Given the description of an element on the screen output the (x, y) to click on. 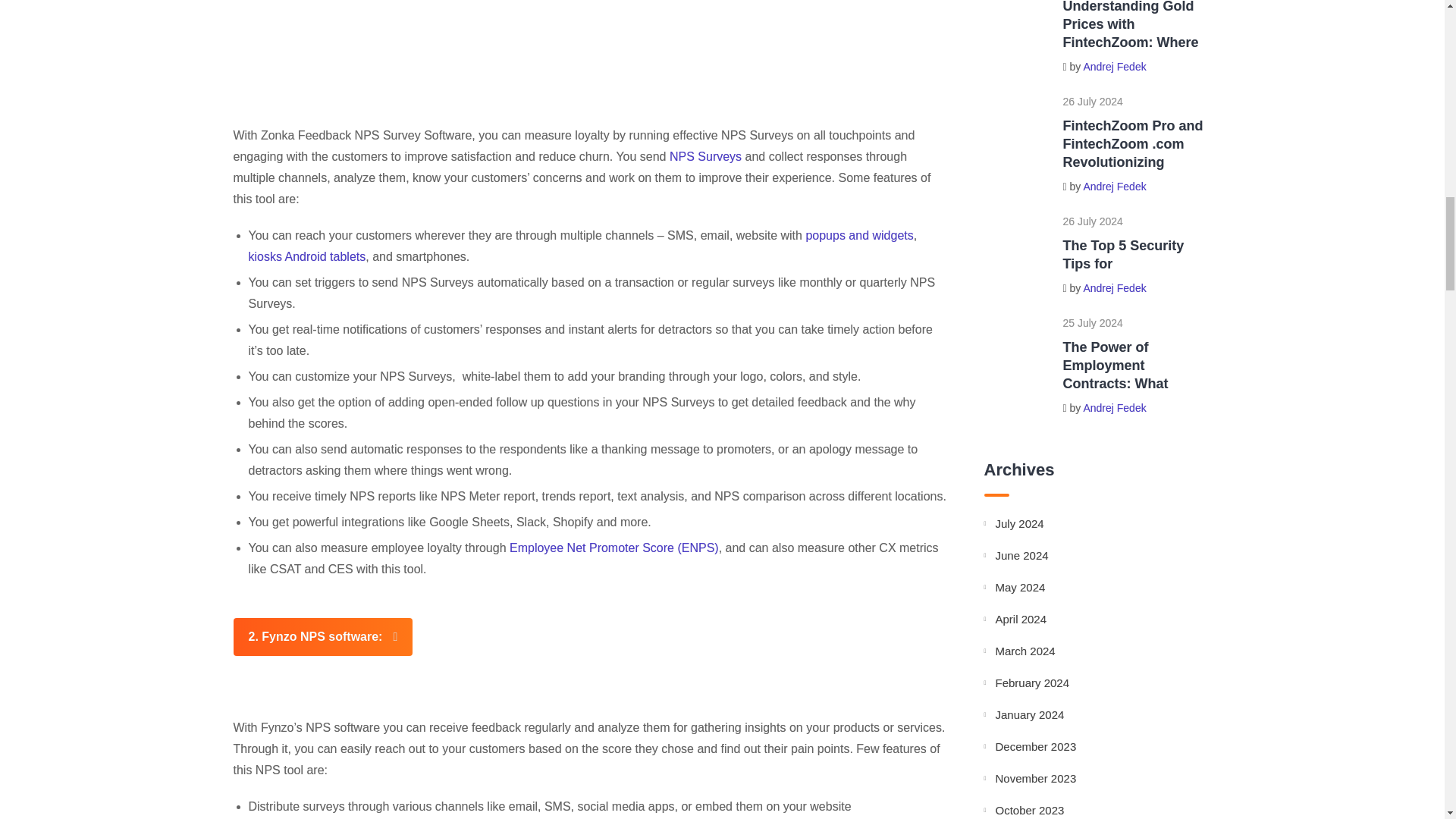
Posts by Andrej Fedek (1114, 287)
NPS Surveys (705, 155)
The Top 5 Security Tips for Your Hosting Environment (1016, 246)
Posts by Andrej Fedek (1114, 186)
FintechZoom Pro and FintechZoom .com Revolutionizing Fintech (1016, 126)
popups and widgets (858, 235)
kiosks Android tablets (307, 256)
2. Fynzo NPS software: (322, 637)
Posts by Andrej Fedek (1114, 66)
Posts by Andrej Fedek (1114, 408)
